Given the description of an element on the screen output the (x, y) to click on. 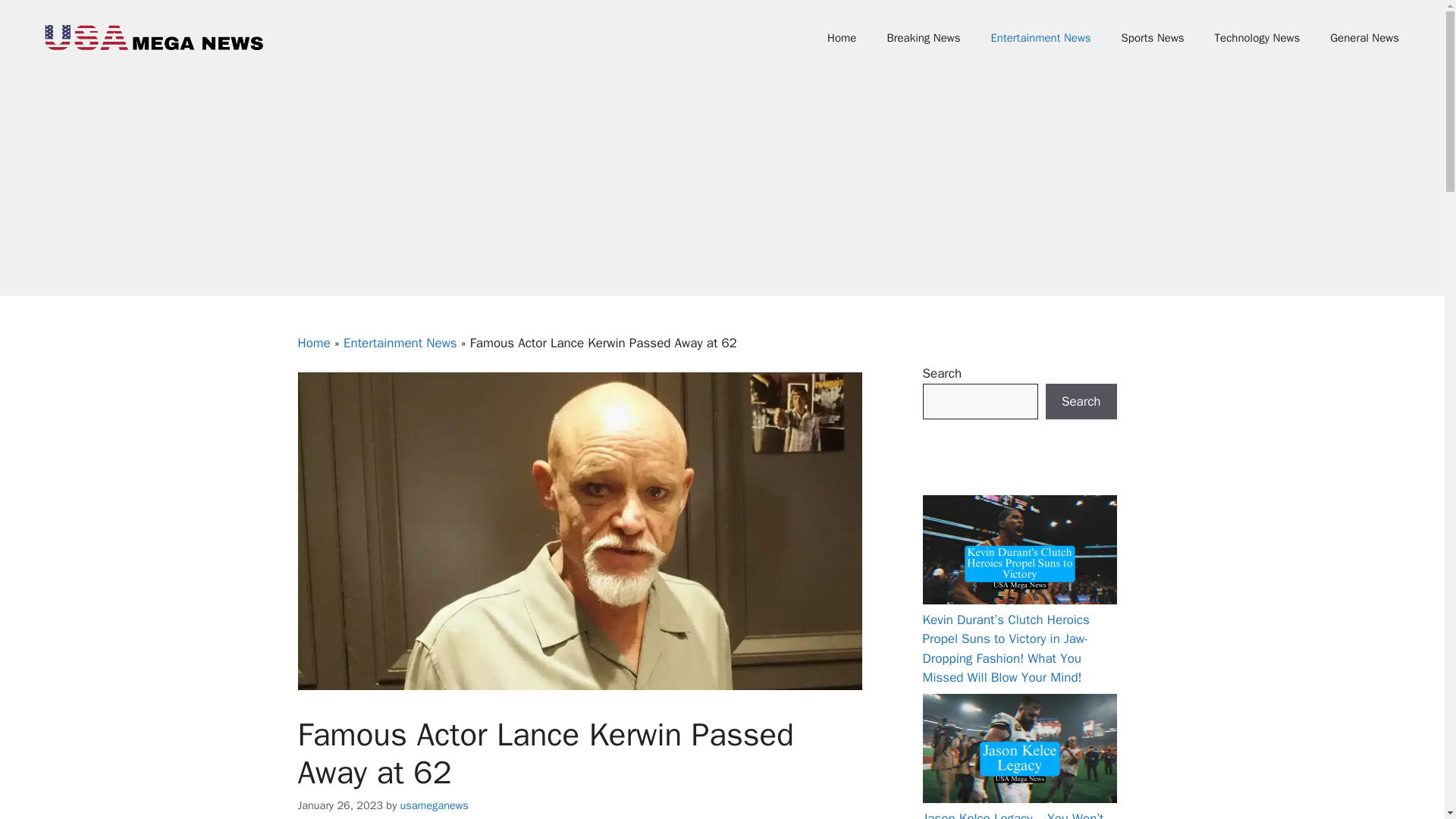
Home (841, 37)
Search (1080, 402)
View all posts by usameganews (434, 804)
Entertainment News (400, 342)
Sports News (1152, 37)
Technology News (1257, 37)
Home (313, 342)
usameganews (434, 804)
Entertainment News (1040, 37)
Breaking News (922, 37)
